Given the description of an element on the screen output the (x, y) to click on. 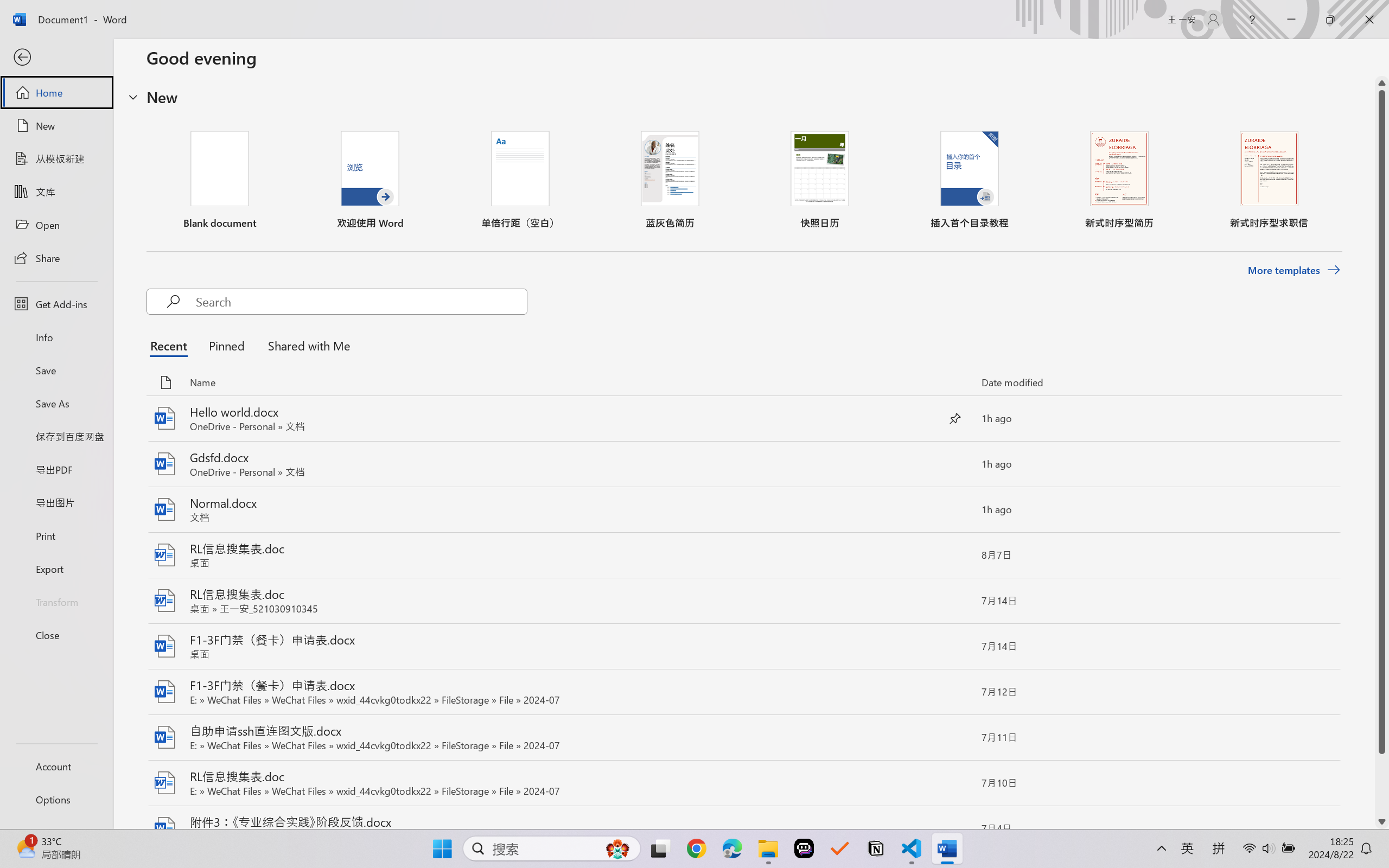
Get Add-ins (56, 303)
Line down (1382, 821)
Info (56, 337)
More templates (1293, 270)
Account (56, 765)
